Given the description of an element on the screen output the (x, y) to click on. 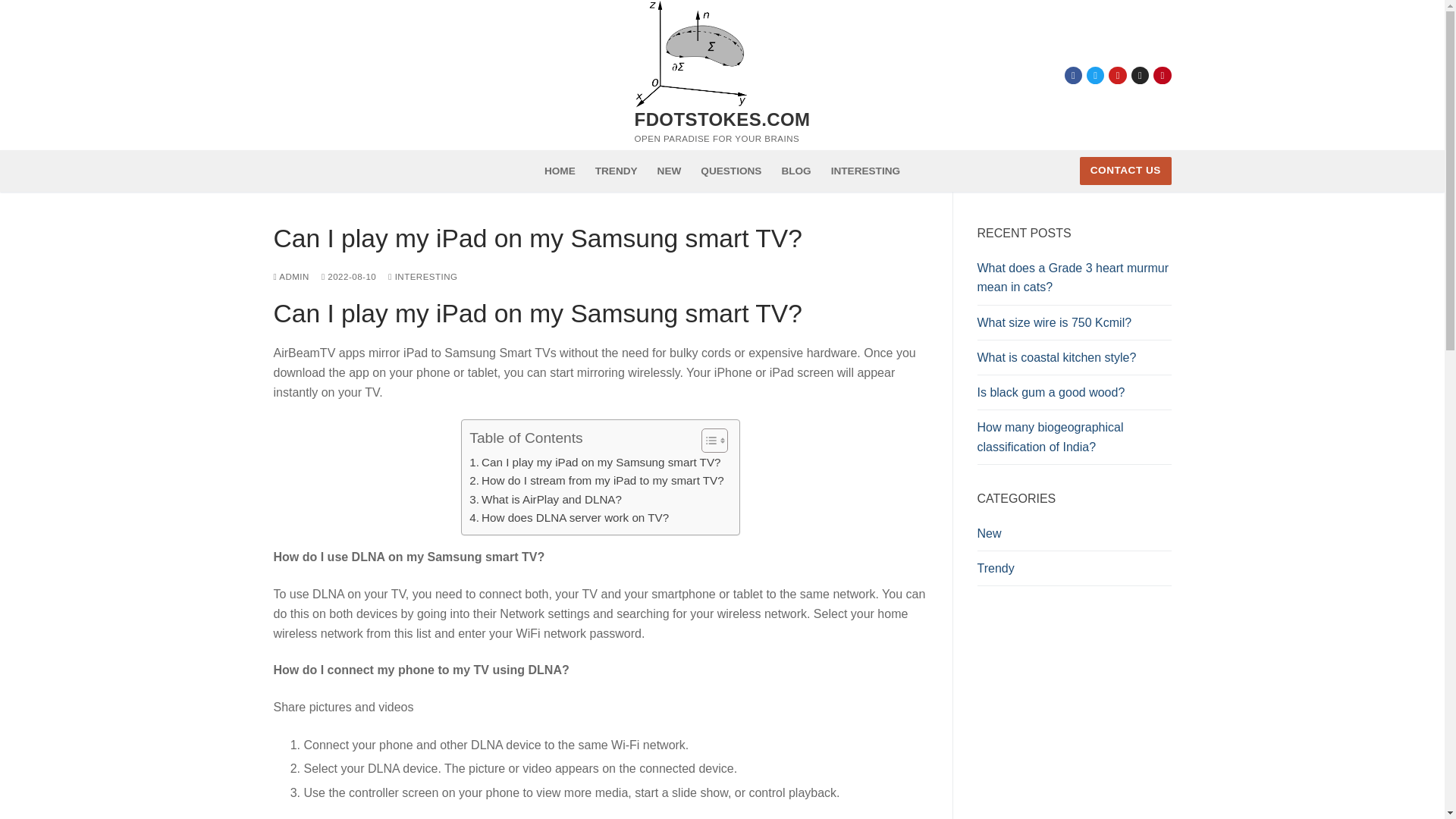
Can I play my iPad on my Samsung smart TV? (594, 462)
How do I stream from my iPad to my smart TV? (595, 480)
INTERESTING (422, 276)
TRENDY (616, 171)
FDOTSTOKES.COM (722, 119)
INTERESTING (865, 171)
ADMIN (290, 276)
NEW (669, 171)
How does DLNA server work on TV? (568, 517)
2022-08-10 (348, 276)
